Given the description of an element on the screen output the (x, y) to click on. 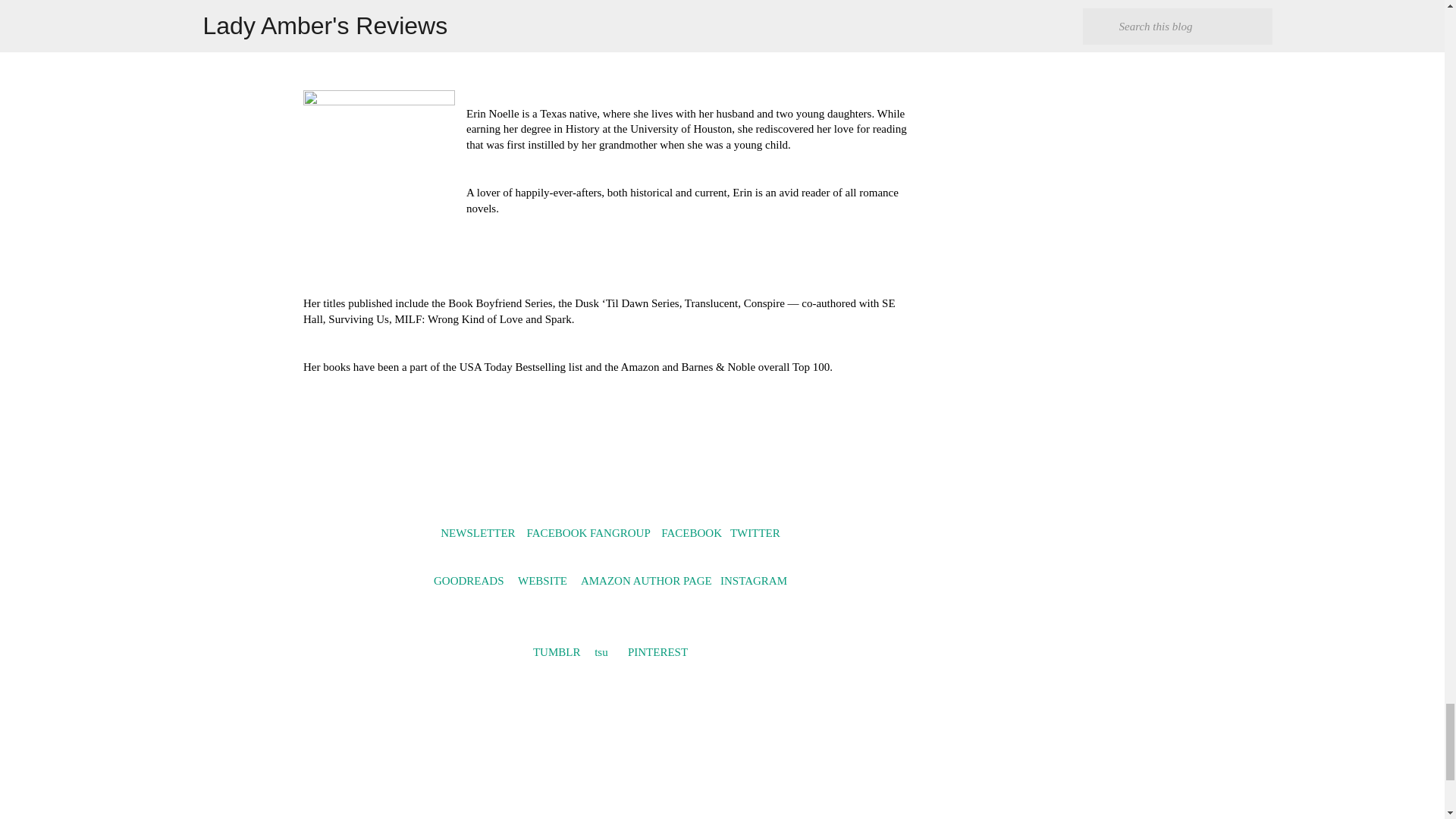
NEWSLETTER (478, 532)
WEBSITE (542, 580)
GOODREADS (468, 580)
TUMBLR (556, 652)
PINTEREST (657, 652)
TWITTER (755, 532)
tsu (601, 652)
INSTAGRAM (753, 580)
AMAZON AUTHOR PAGE (645, 580)
FACEBOOK FANGROUP (588, 532)
